Given the description of an element on the screen output the (x, y) to click on. 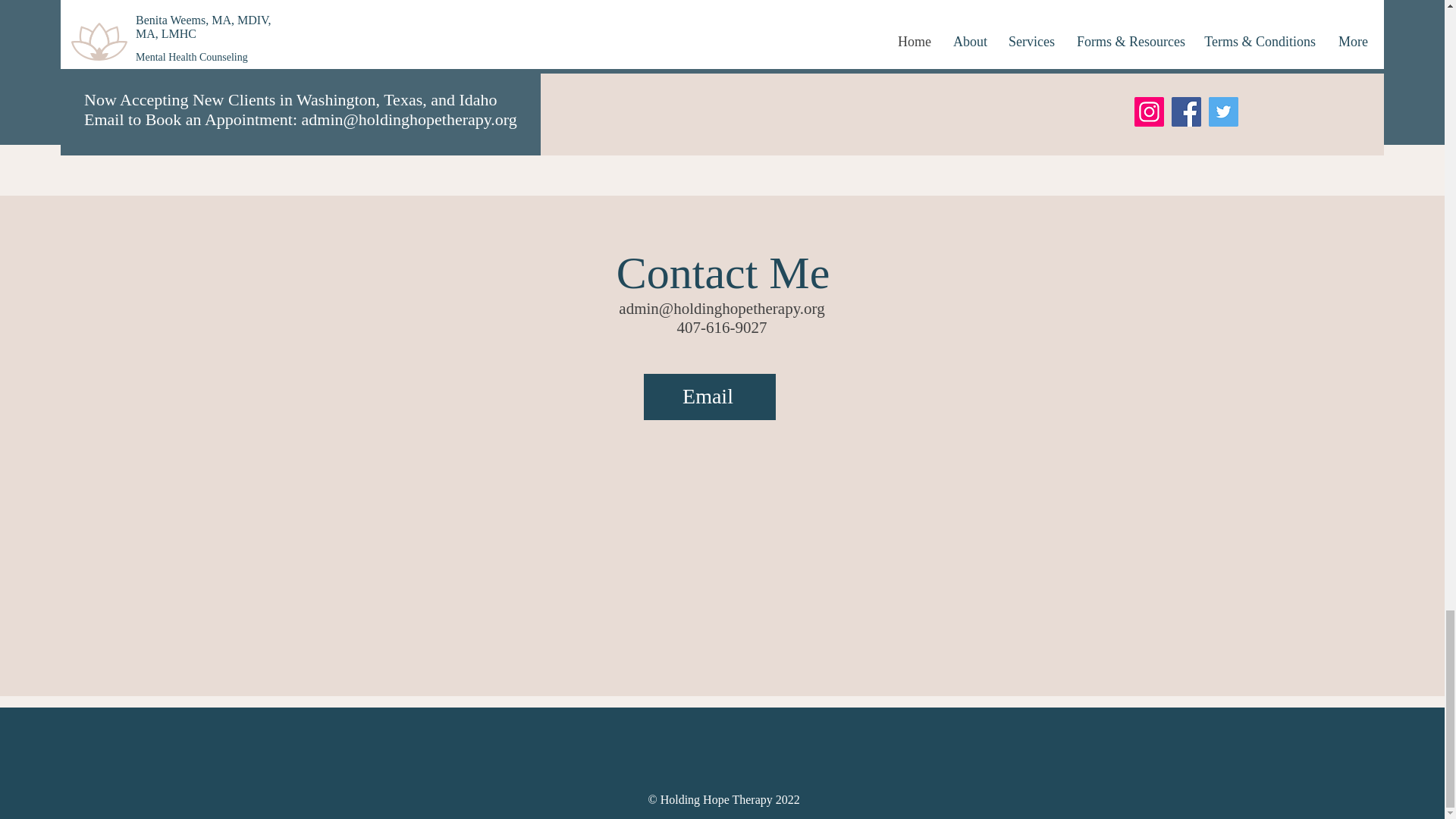
Email (708, 396)
